Given the description of an element on the screen output the (x, y) to click on. 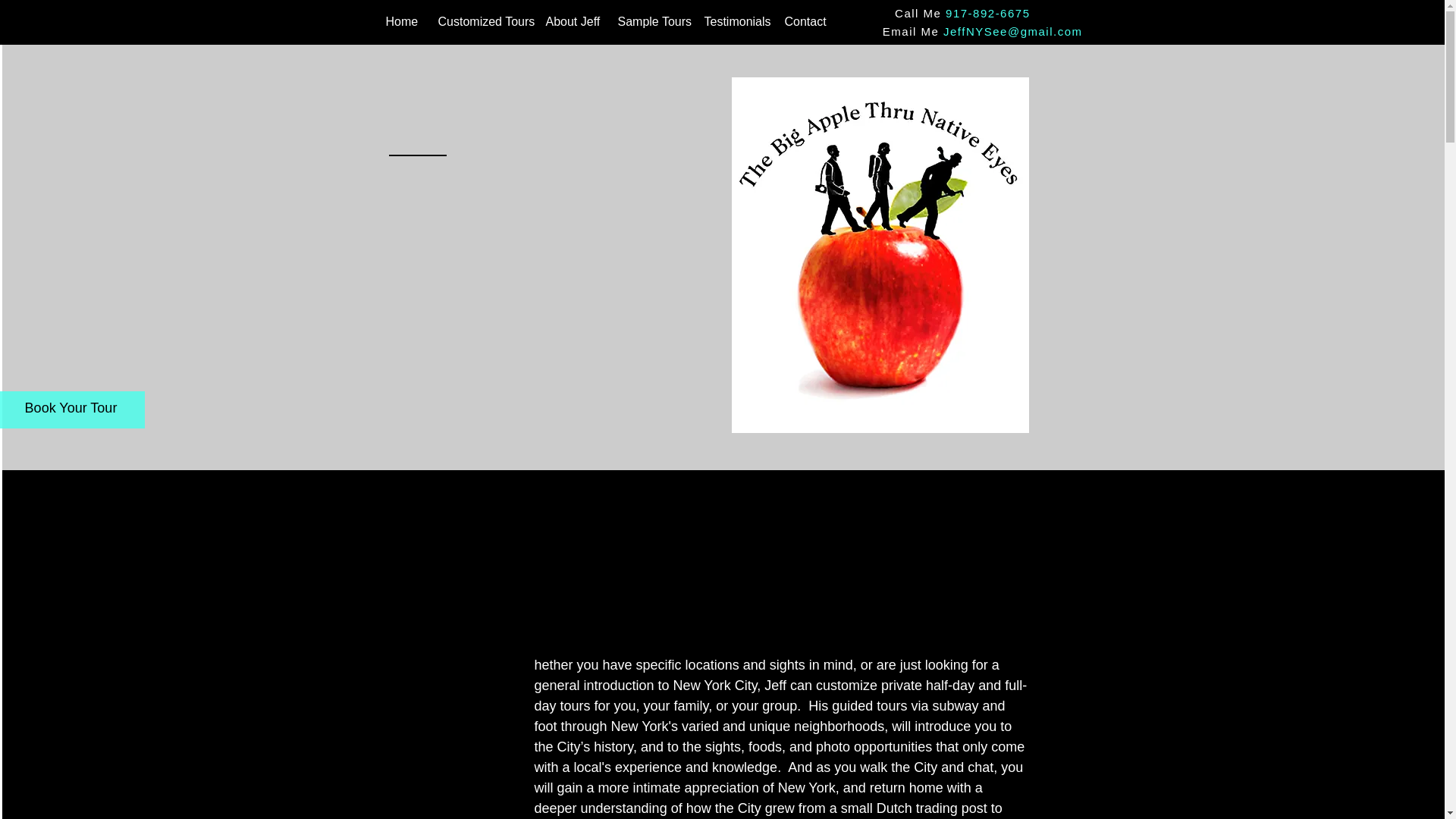
About Jeff (569, 21)
Home (400, 21)
Customized Tours (480, 21)
Sample Tours (650, 21)
Book Your Tour (70, 407)
Testimonials (733, 21)
Contact (803, 21)
